Given the description of an element on the screen output the (x, y) to click on. 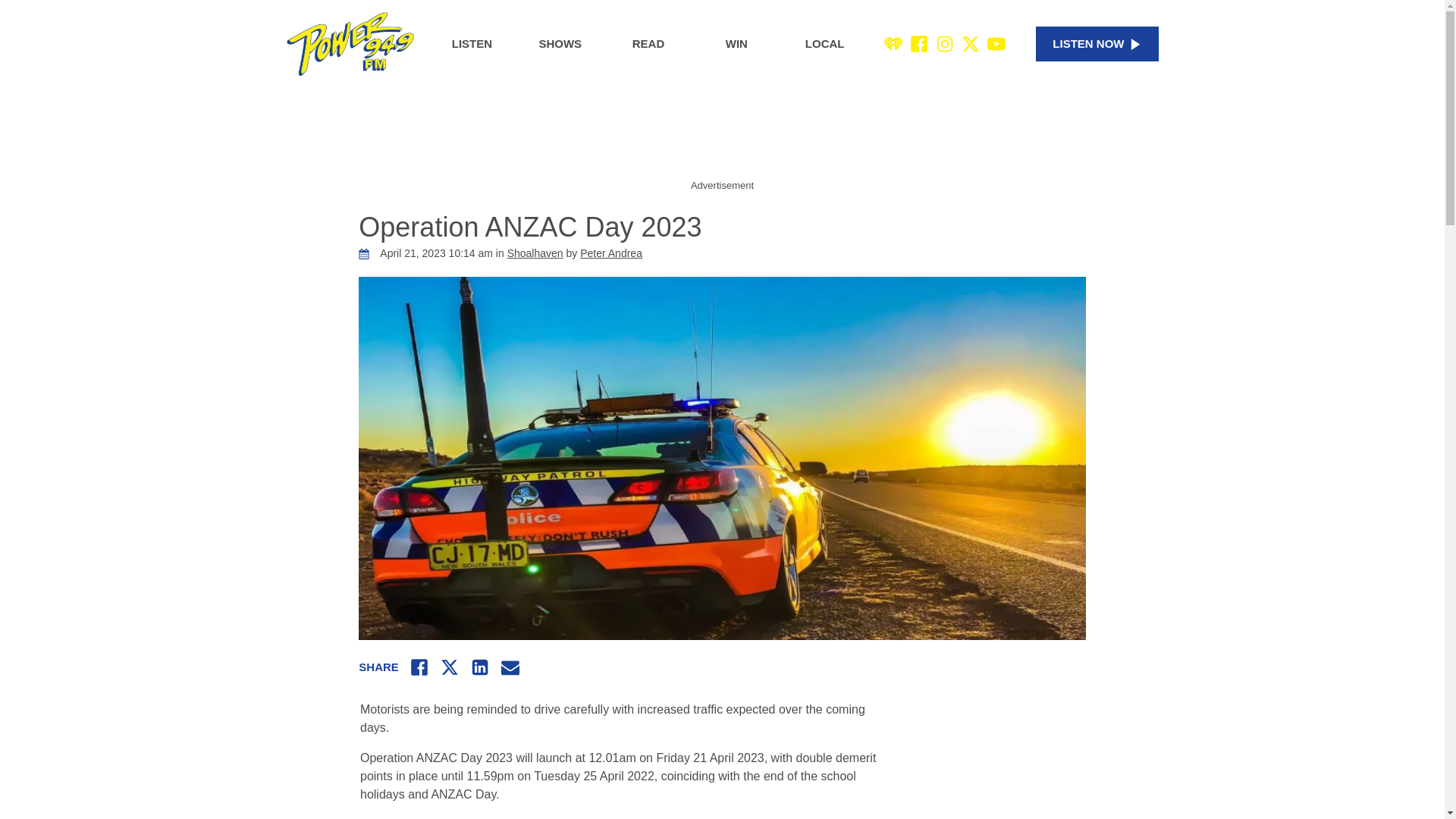
LOCAL (824, 43)
3rd party ad content (1022, 762)
iHeart (892, 44)
Facebook (919, 44)
YouTube (996, 44)
LISTEN (471, 43)
READ (648, 43)
3rd party ad content (721, 139)
Instagram (944, 44)
WIN (736, 43)
LISTEN NOW (1096, 44)
Posts by Peter Andrea (610, 253)
SHOWS (560, 43)
